Given the description of an element on the screen output the (x, y) to click on. 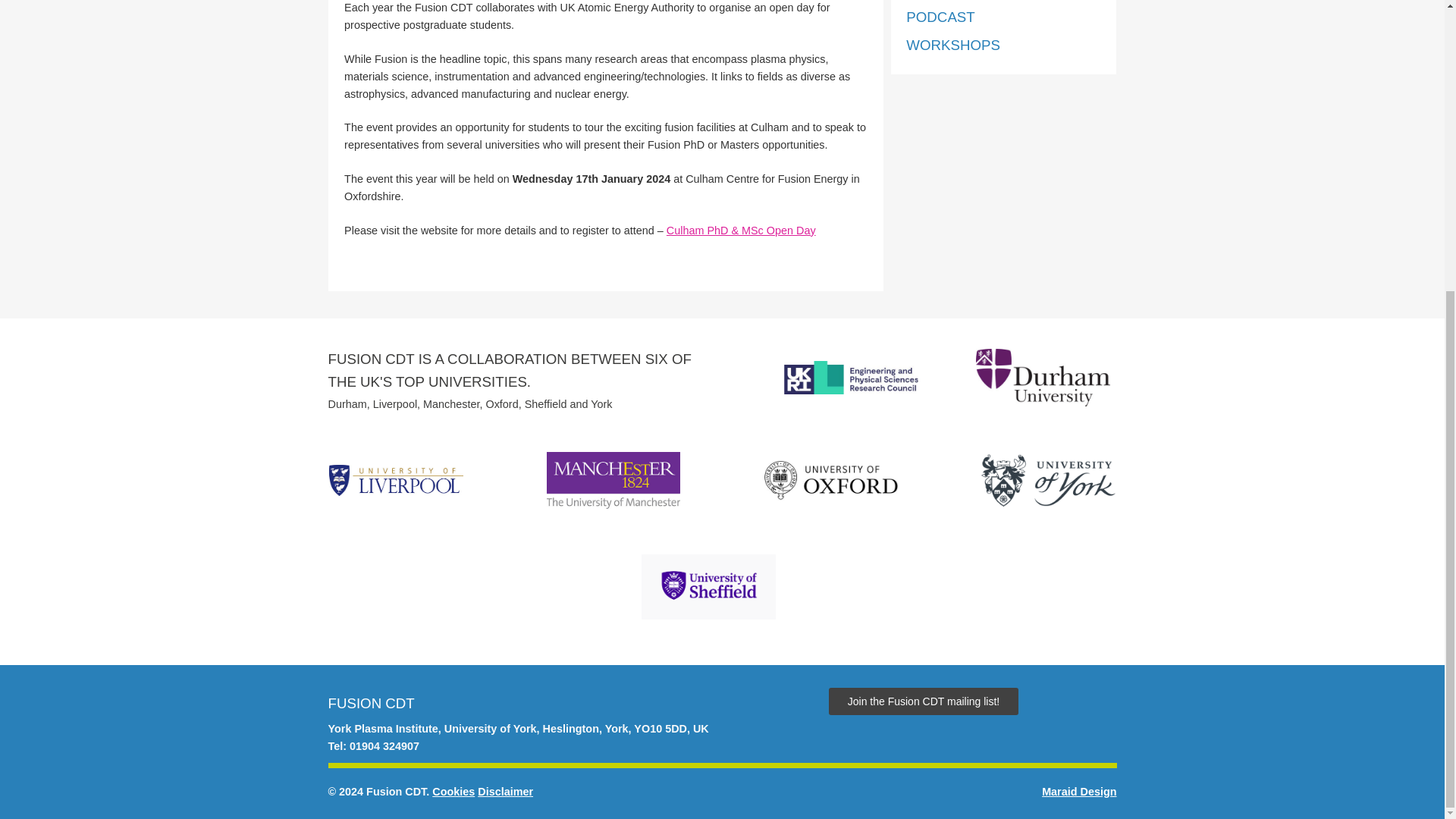
WORKSHOPS (952, 44)
PODCAST (939, 17)
Maraid Design (1079, 791)
Cookies (453, 791)
Disclaimer (504, 791)
